Given the description of an element on the screen output the (x, y) to click on. 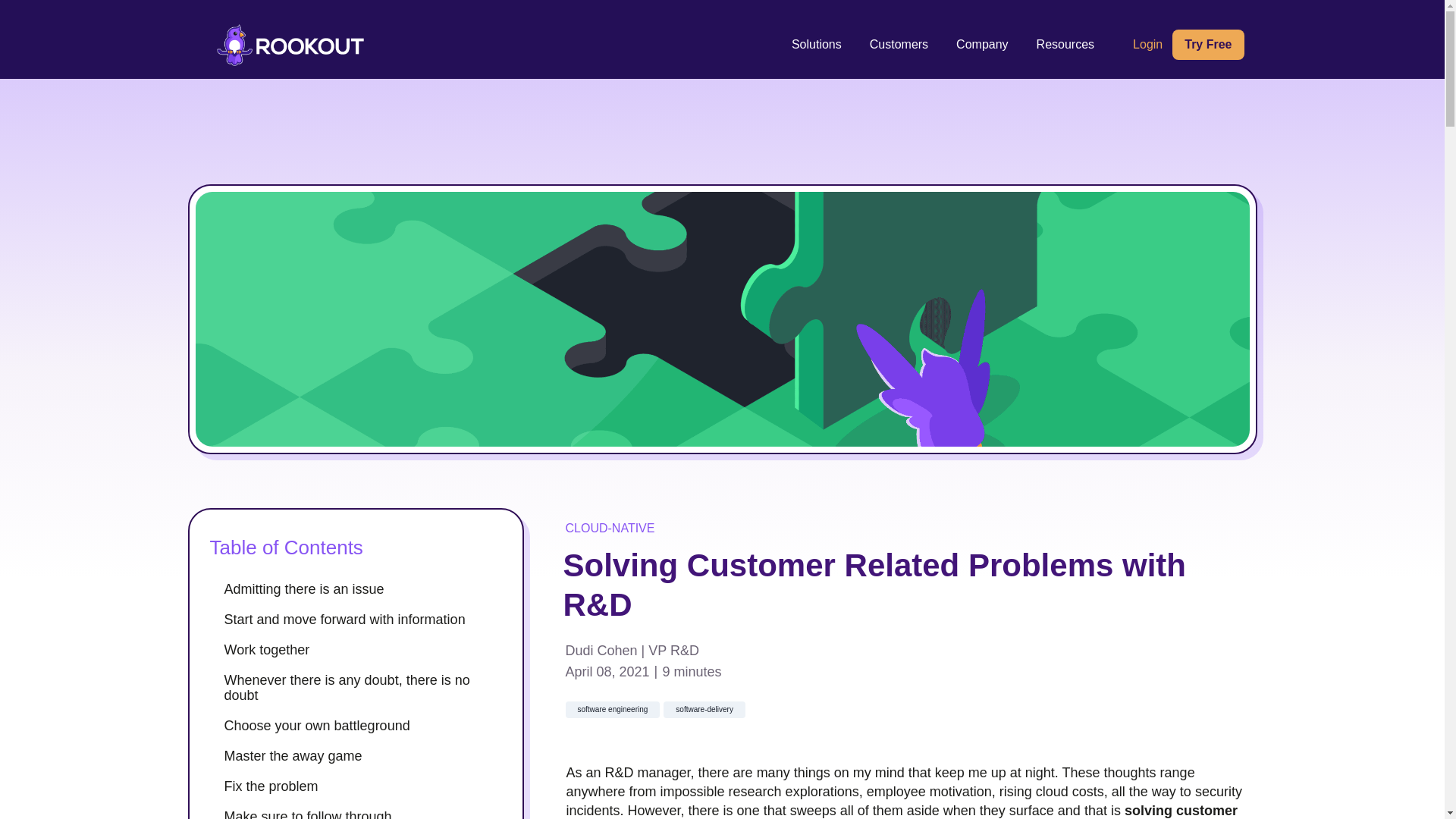
Start and move forward with information (363, 619)
Whenever there is any doubt, there is no doubt (363, 687)
Work together (363, 649)
Fix the problem (363, 785)
CLOUD-NATIVE (610, 527)
software-delivery (704, 709)
Solutions (816, 44)
Try Free (1207, 44)
Master the away game (363, 755)
Whenever there is any doubt, there is no doubt (363, 687)
